Given the description of an element on the screen output the (x, y) to click on. 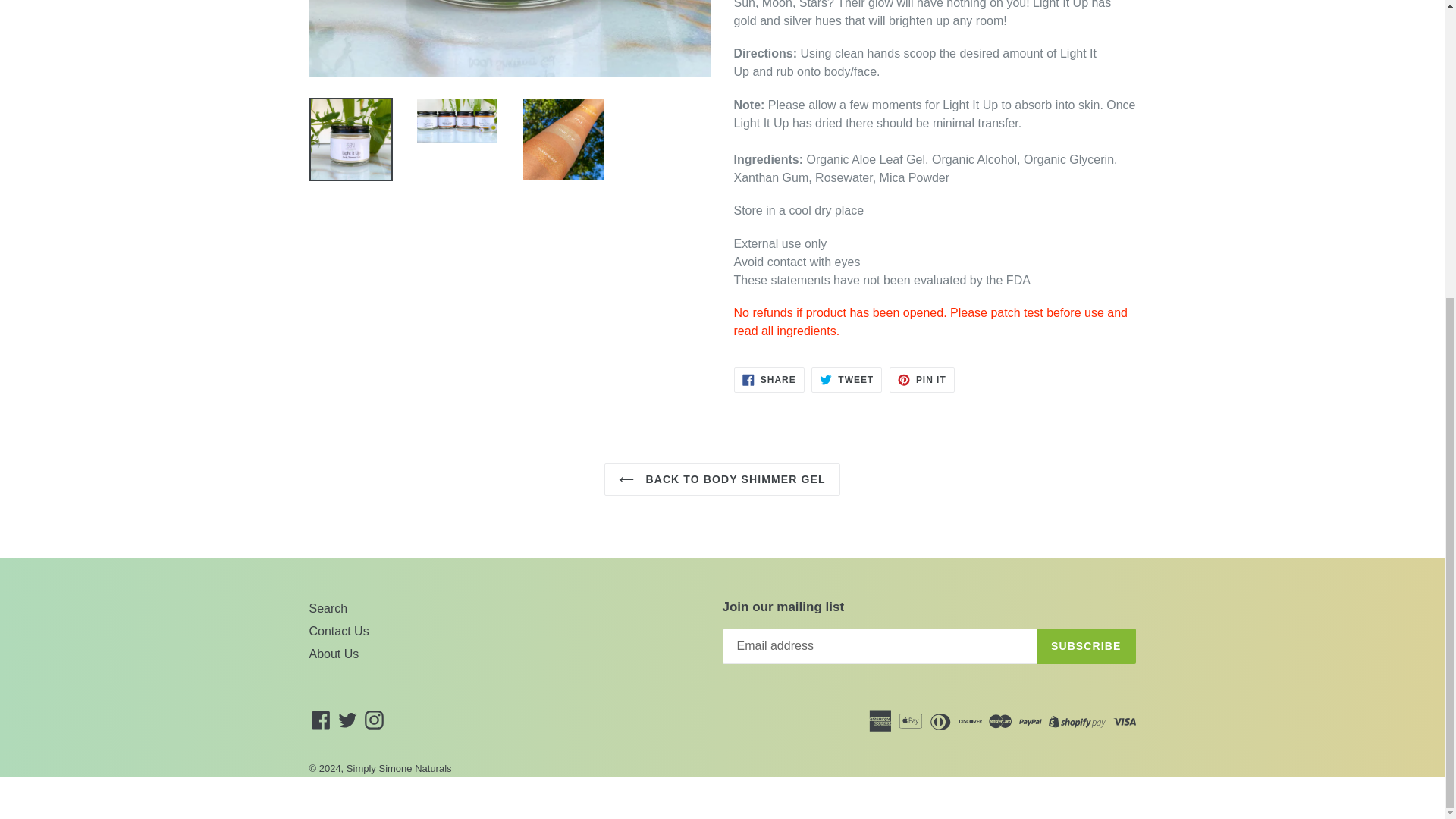
Pin on Pinterest (922, 379)
Share on Facebook (769, 379)
Simply Simone Naturals on Twitter (347, 719)
Simply Simone Naturals on Facebook (320, 719)
Simply Simone Naturals on Instagram (373, 719)
Tweet on Twitter (846, 379)
